Given the description of an element on the screen output the (x, y) to click on. 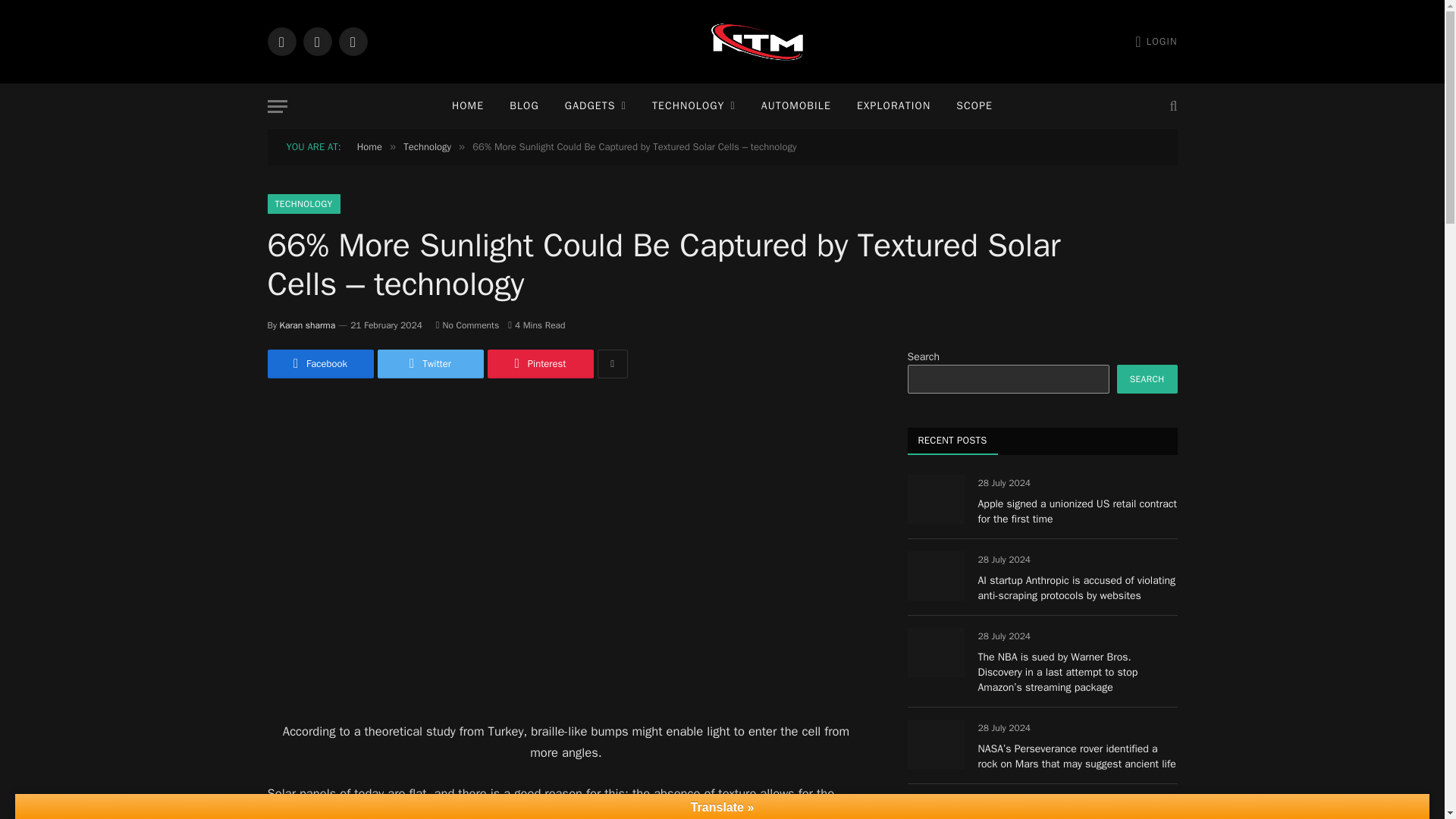
HOME (467, 105)
TECHNOLOGY (693, 105)
EXPLORATION (893, 105)
BLOG (523, 105)
Pinterest (539, 363)
Technology (427, 146)
TECHNOLOGY (302, 203)
Share on Facebook (319, 363)
Show More Social Sharing (611, 363)
AUTOMOBILE (796, 105)
SCOPE (974, 105)
Twitter (430, 363)
GADGETS (595, 105)
Instagram (351, 41)
Share on Pinterest (539, 363)
